Given the description of an element on the screen output the (x, y) to click on. 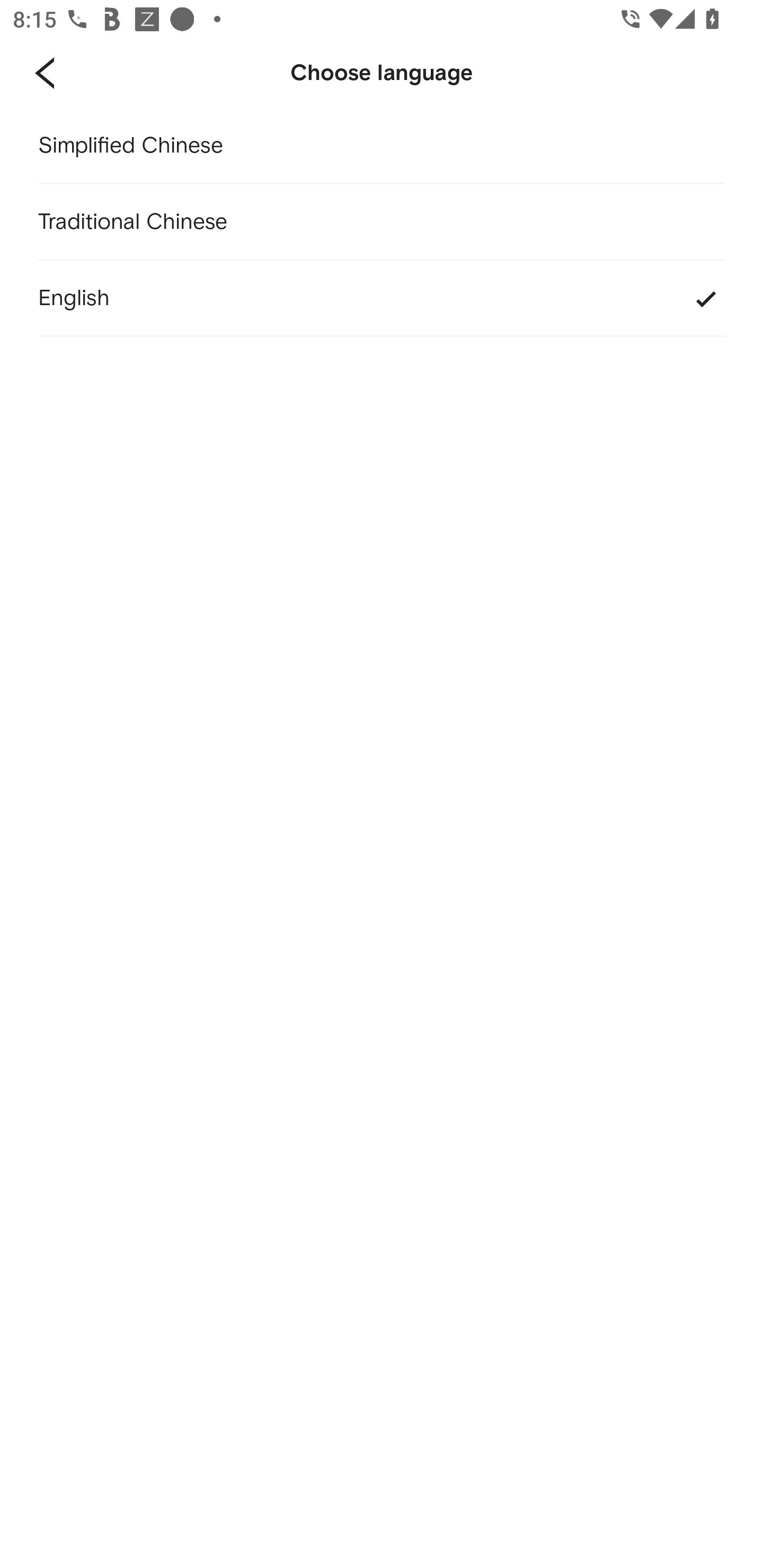
Simplified Chinese (381, 146)
Traditional Chinese (381, 222)
English (381, 298)
